Given the description of an element on the screen output the (x, y) to click on. 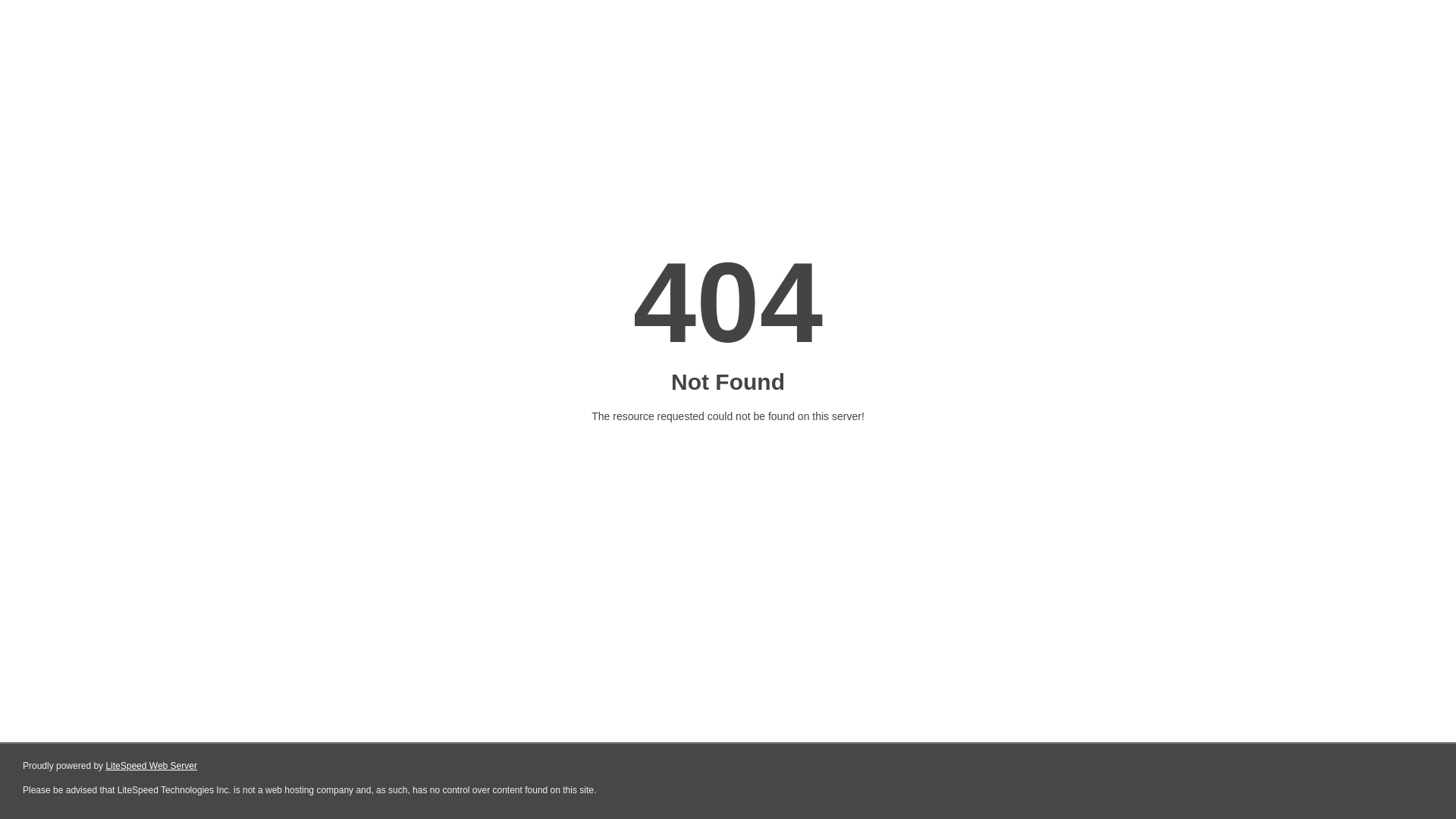
LiteSpeed Web Server Element type: text (151, 765)
